Given the description of an element on the screen output the (x, y) to click on. 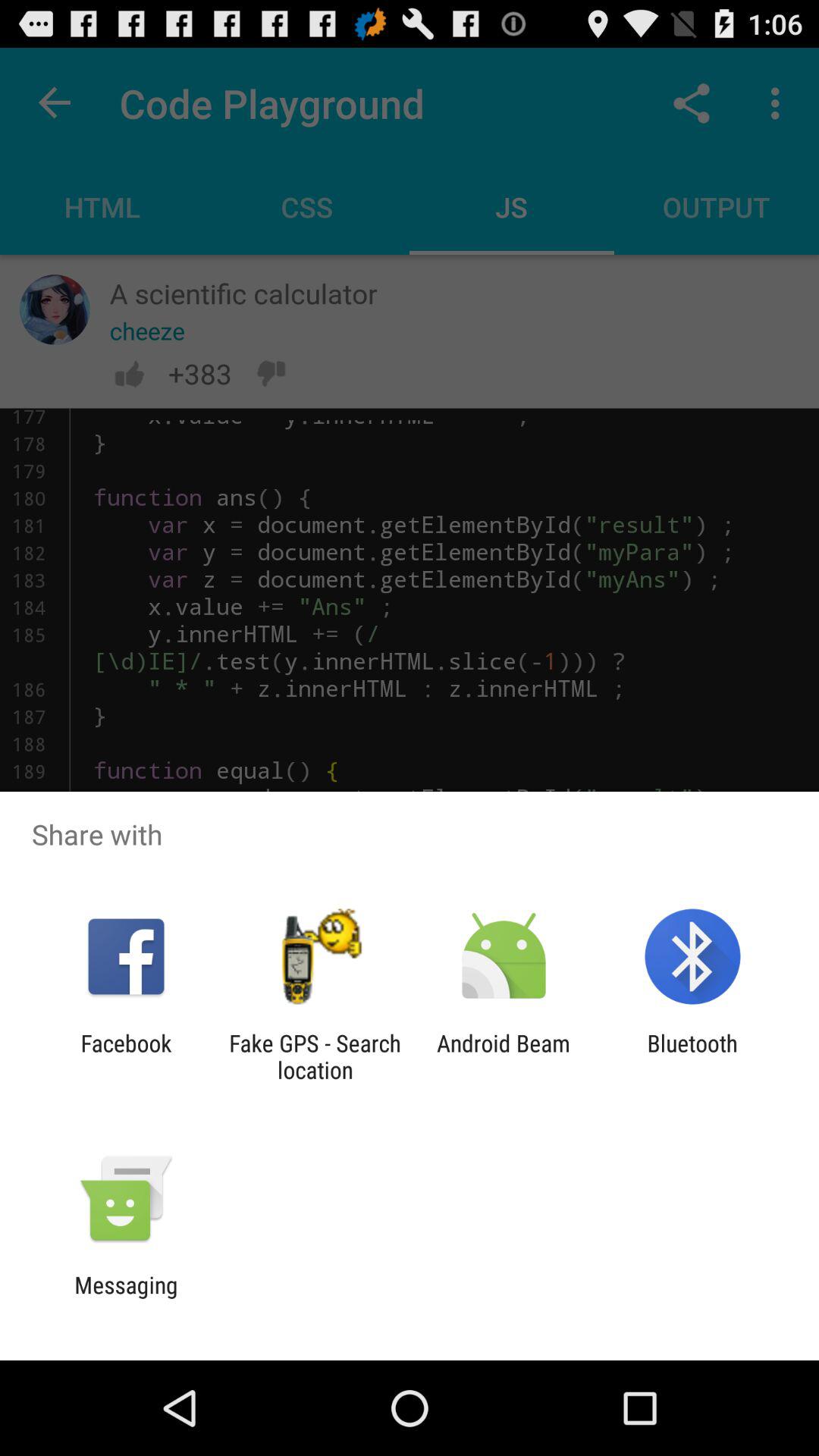
choose the icon next to the facebook icon (314, 1056)
